Given the description of an element on the screen output the (x, y) to click on. 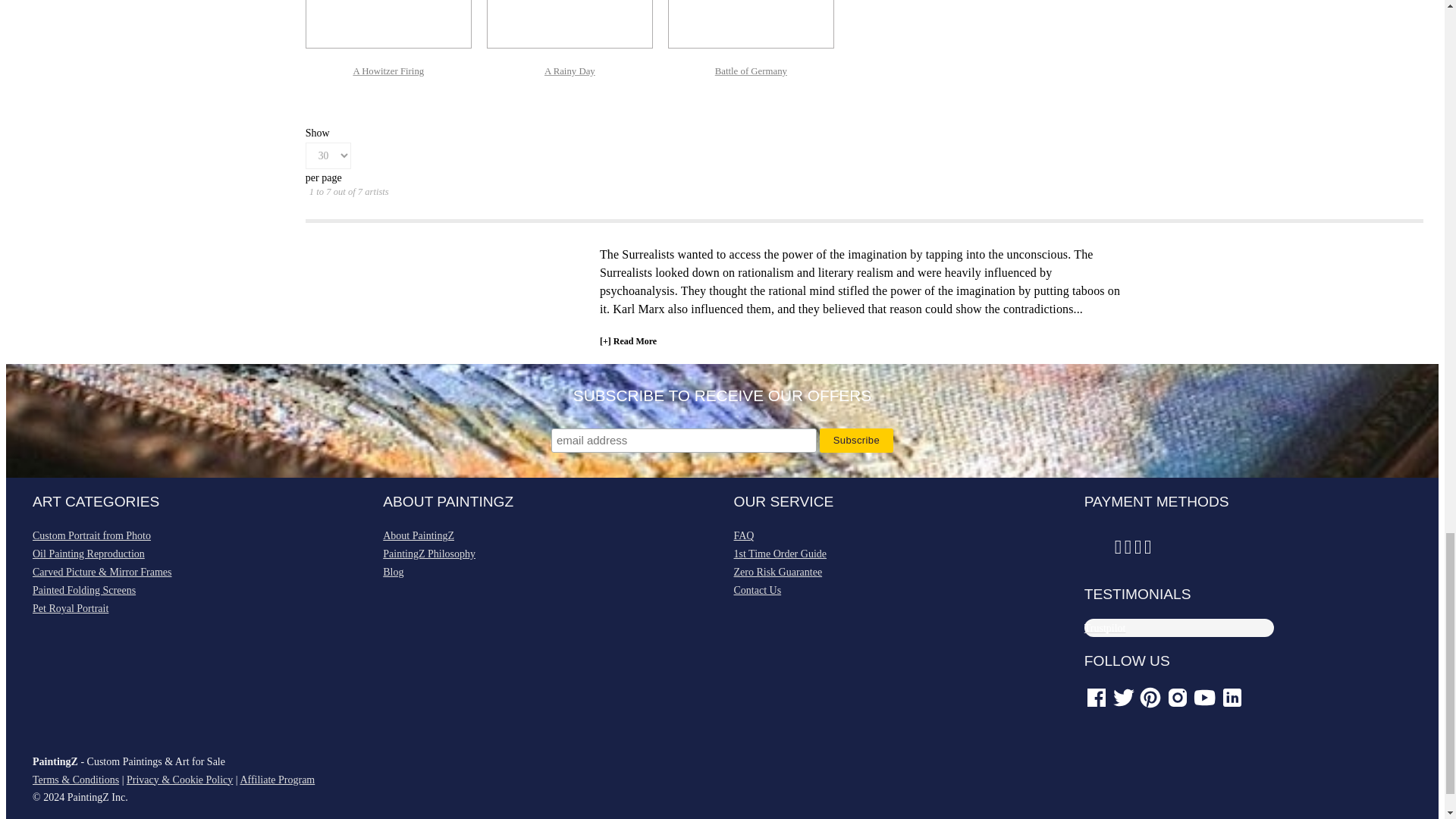
Subscribe (856, 440)
